Given the description of an element on the screen output the (x, y) to click on. 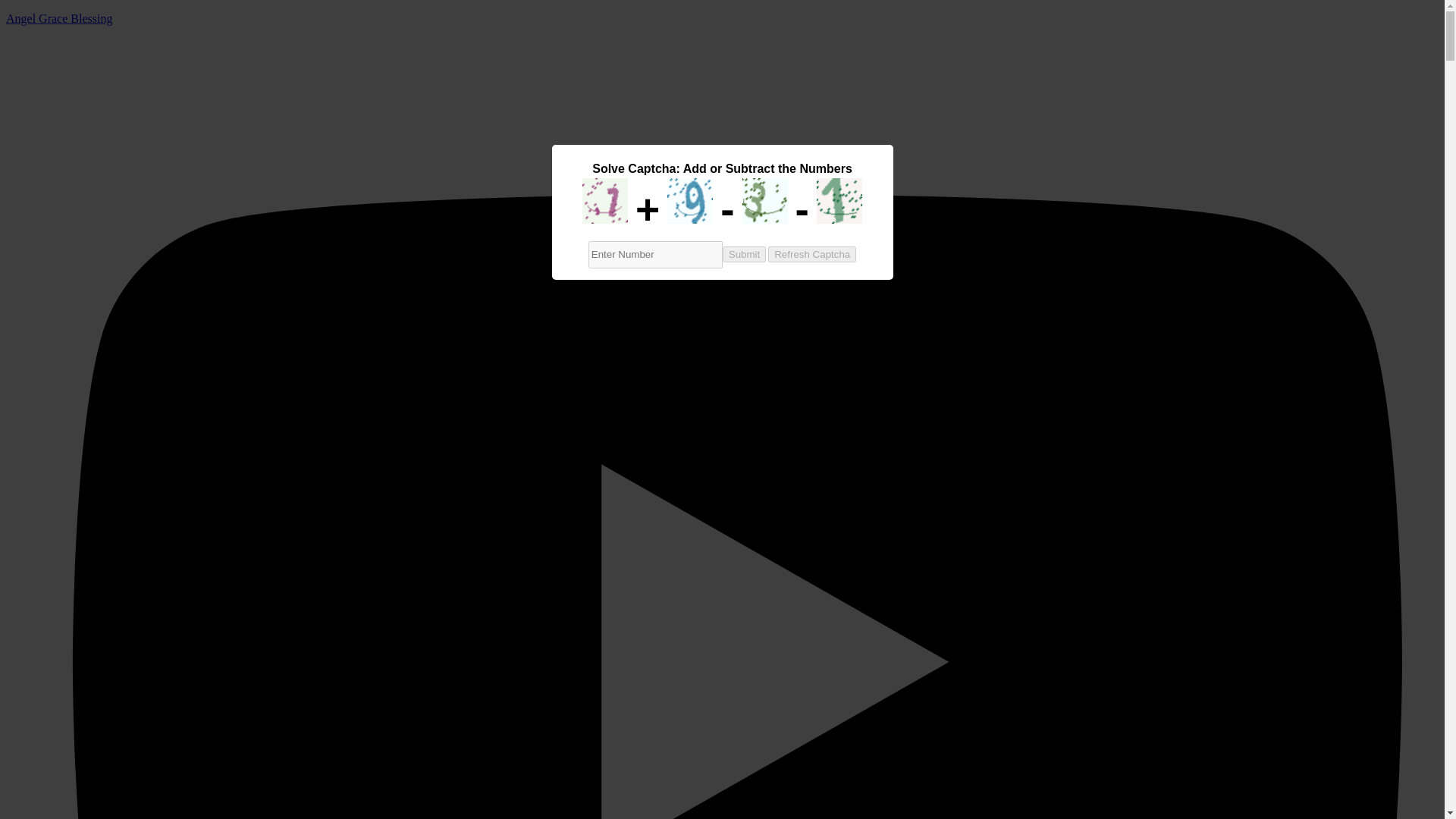
Angel Grace Blessing (58, 18)
Submit (576, 207)
Refresh Captcha (812, 254)
Submit (743, 254)
Angel Grace Blessing (58, 18)
